Given the description of an element on the screen output the (x, y) to click on. 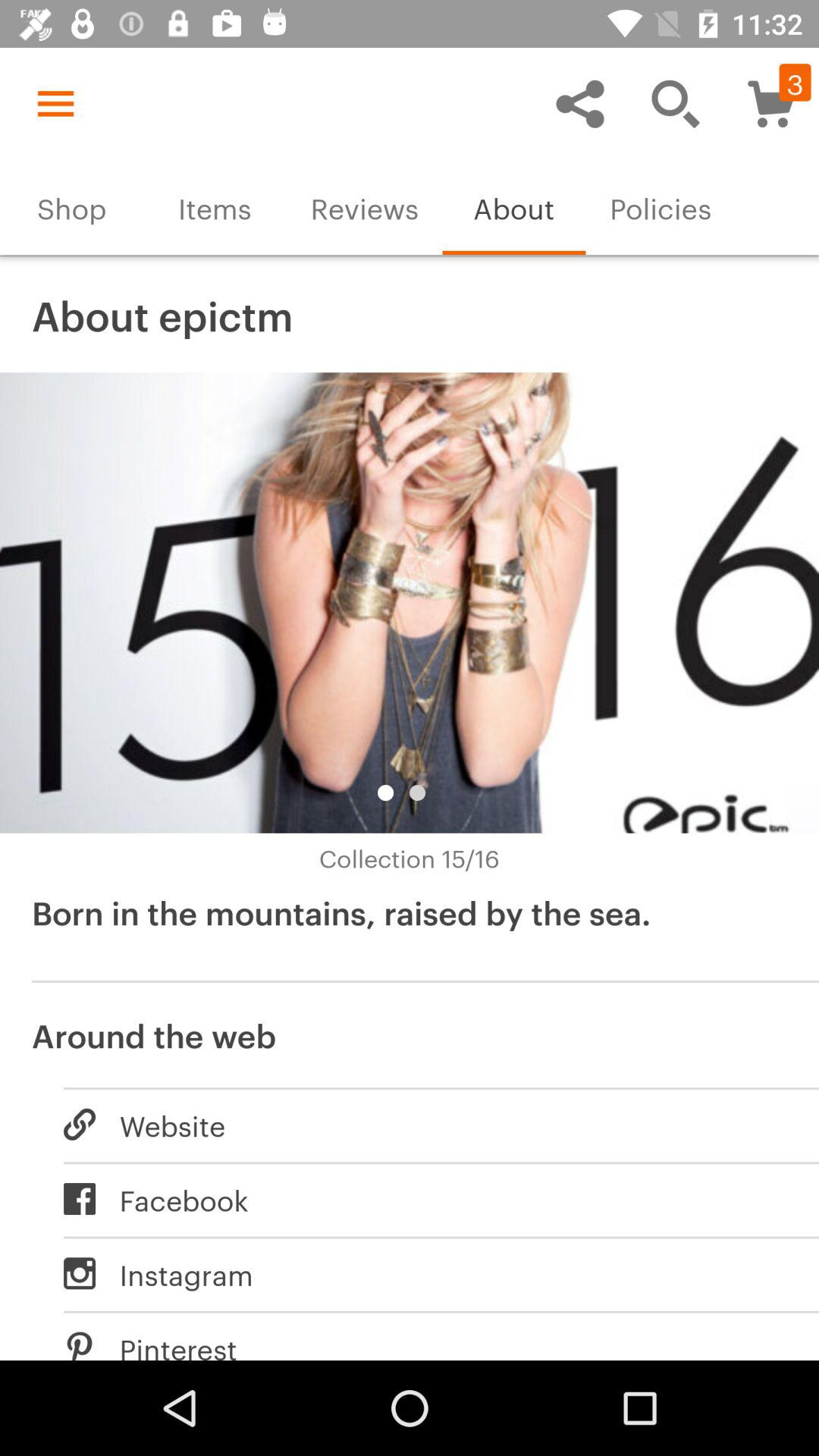
turn on icon below the website item (425, 1198)
